Given the description of an element on the screen output the (x, y) to click on. 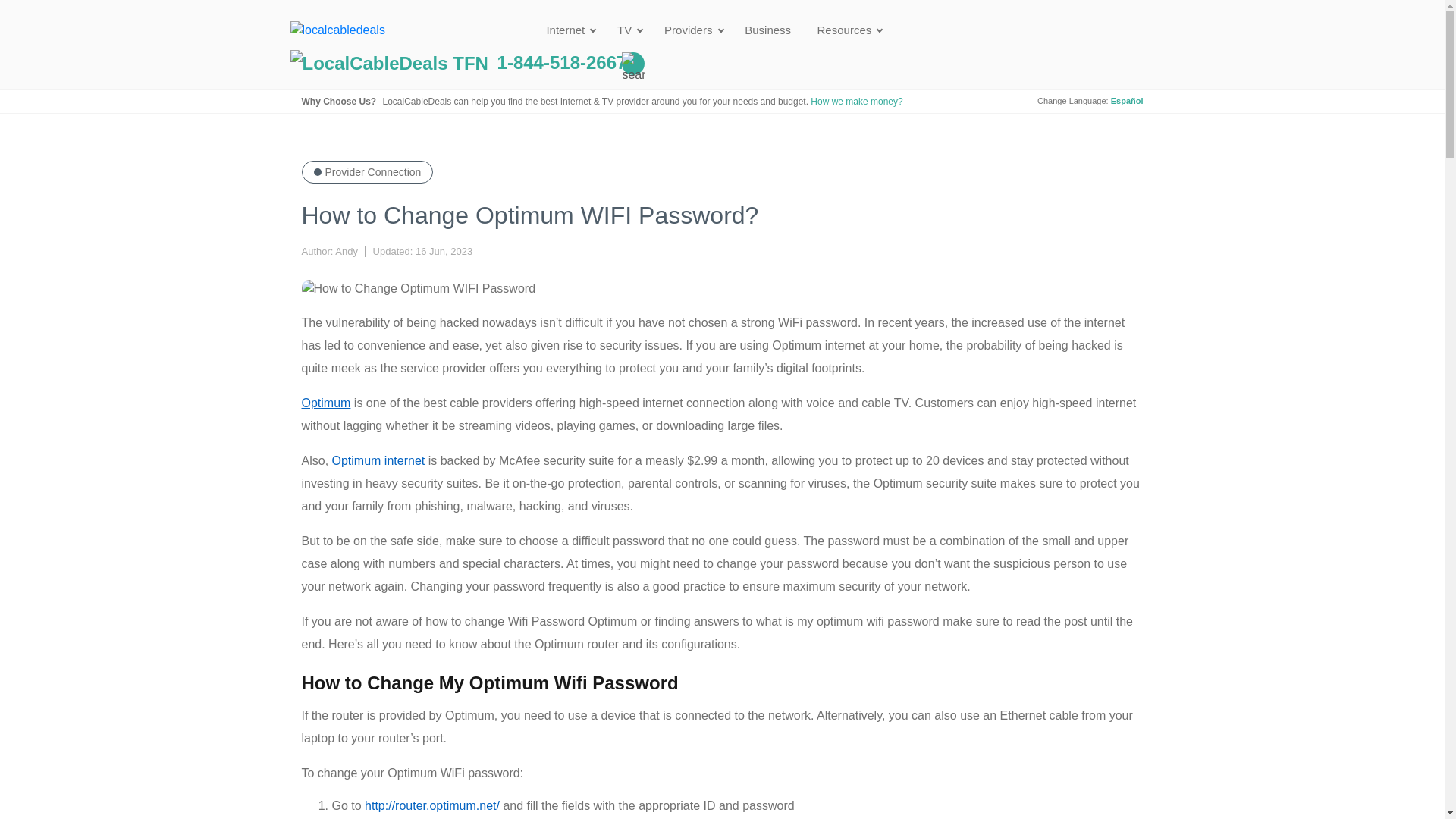
Providers   (691, 29)
Internet   (568, 29)
TV   (628, 29)
Resources   (846, 29)
Business (767, 29)
